Given the description of an element on the screen output the (x, y) to click on. 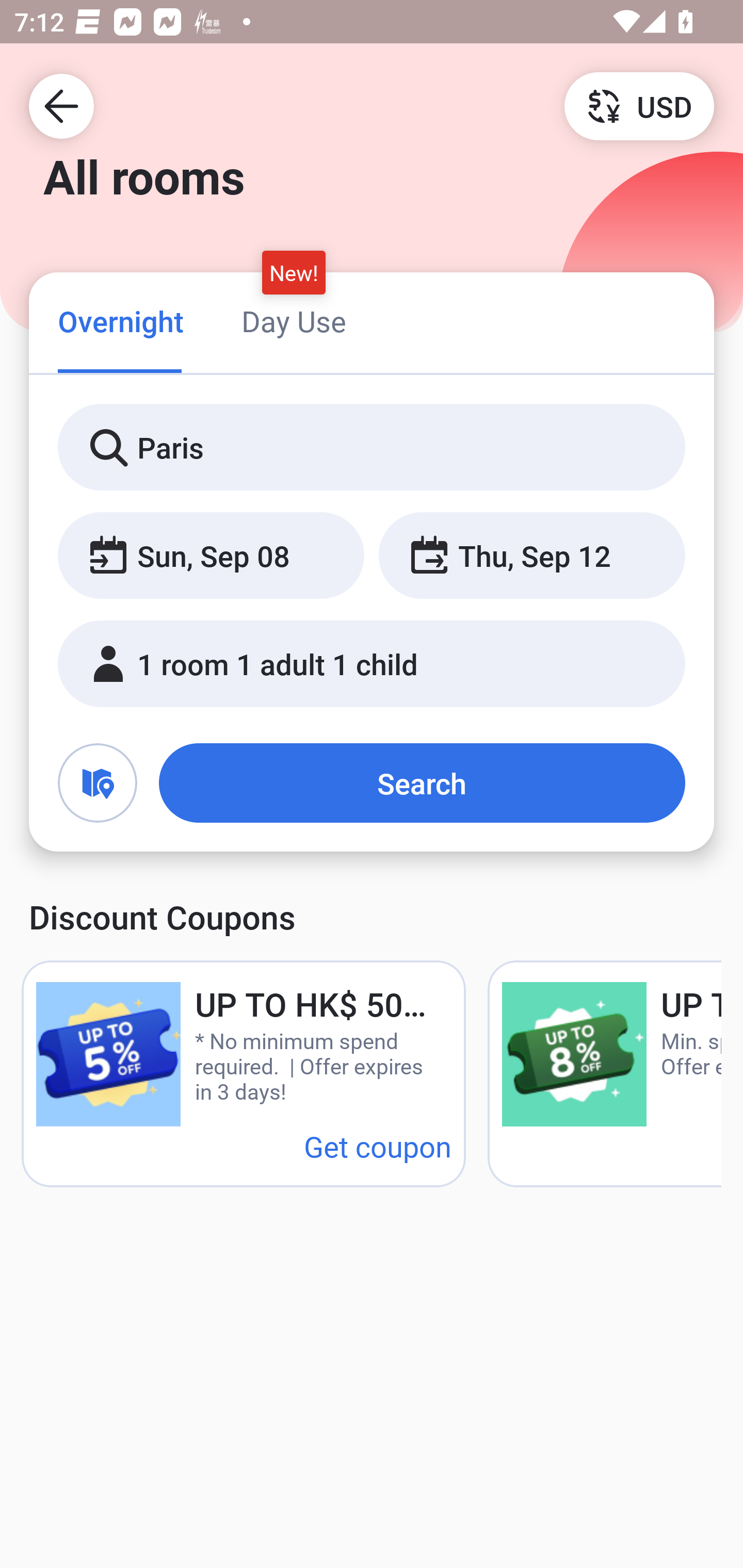
USD (639, 105)
New! (294, 272)
Day Use (293, 321)
Paris (371, 447)
Sun, Sep 08 (210, 555)
Thu, Sep 12 (531, 555)
1 room 1 adult 1 child (371, 663)
Search (422, 783)
Get coupon (377, 1146)
